Given the description of an element on the screen output the (x, y) to click on. 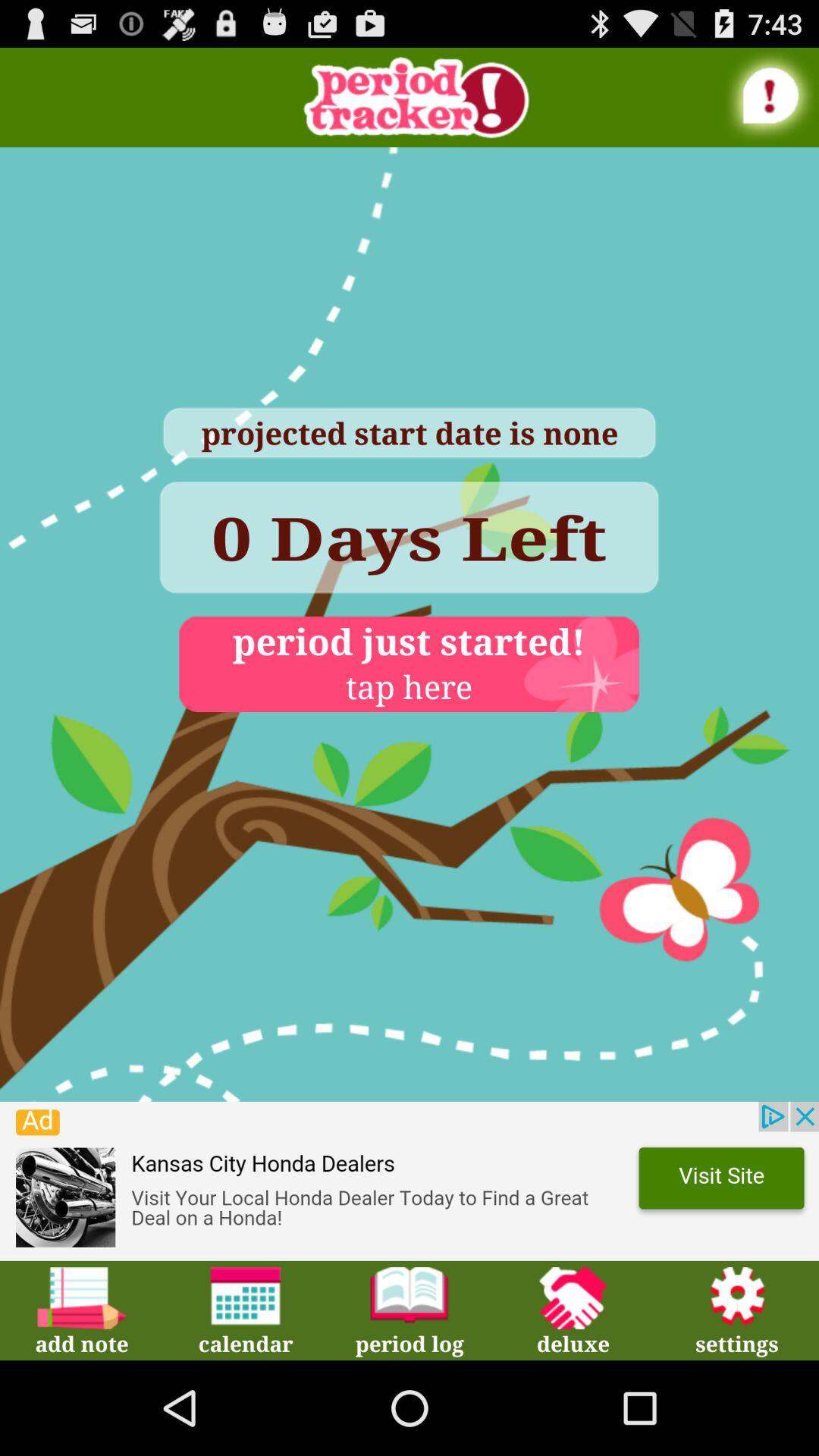
information (771, 95)
